Given the description of an element on the screen output the (x, y) to click on. 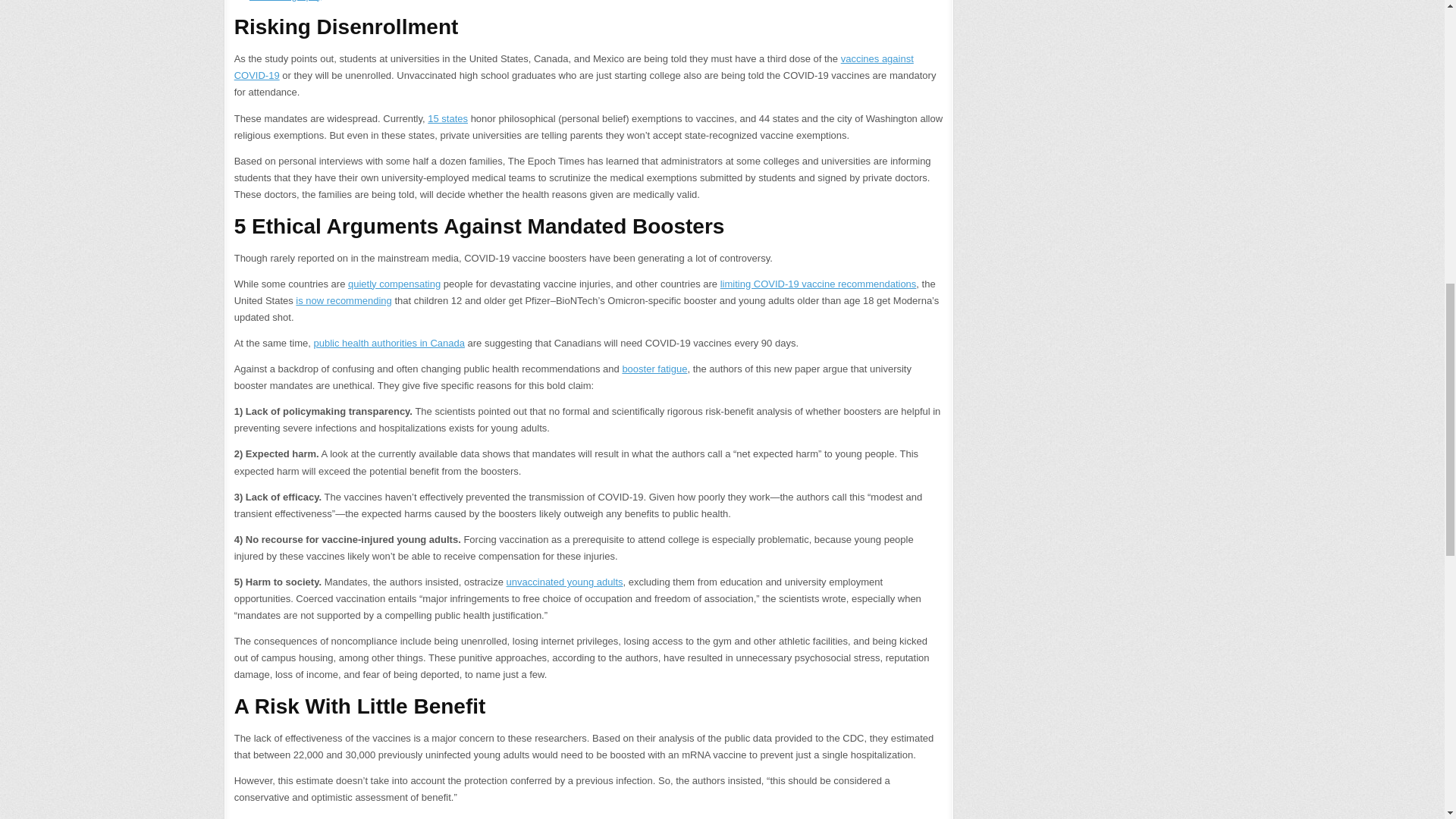
unvaccinated young adults (564, 582)
vaccines against COVID-19 (574, 67)
is now recommending (343, 300)
booster fatigue (654, 368)
public health authorities in Canada (388, 342)
online biography (284, 0)
quietly compensating (394, 283)
limiting COVID-19 vaccine recommendations (818, 283)
15 states (447, 118)
